Given the description of an element on the screen output the (x, y) to click on. 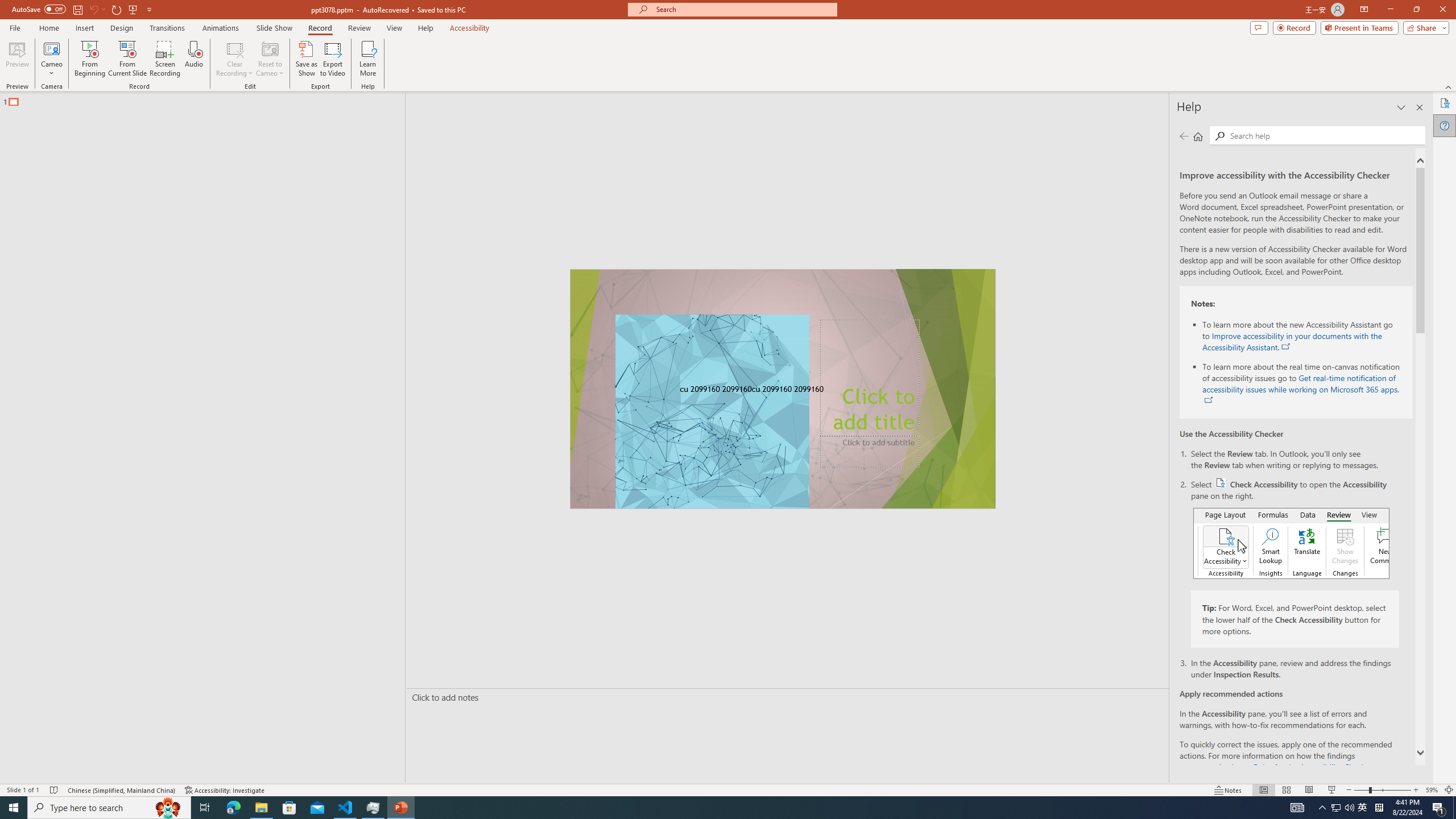
An abstract genetic concept (782, 388)
Accessibility checker button on ribbon (1291, 543)
